Given the description of an element on the screen output the (x, y) to click on. 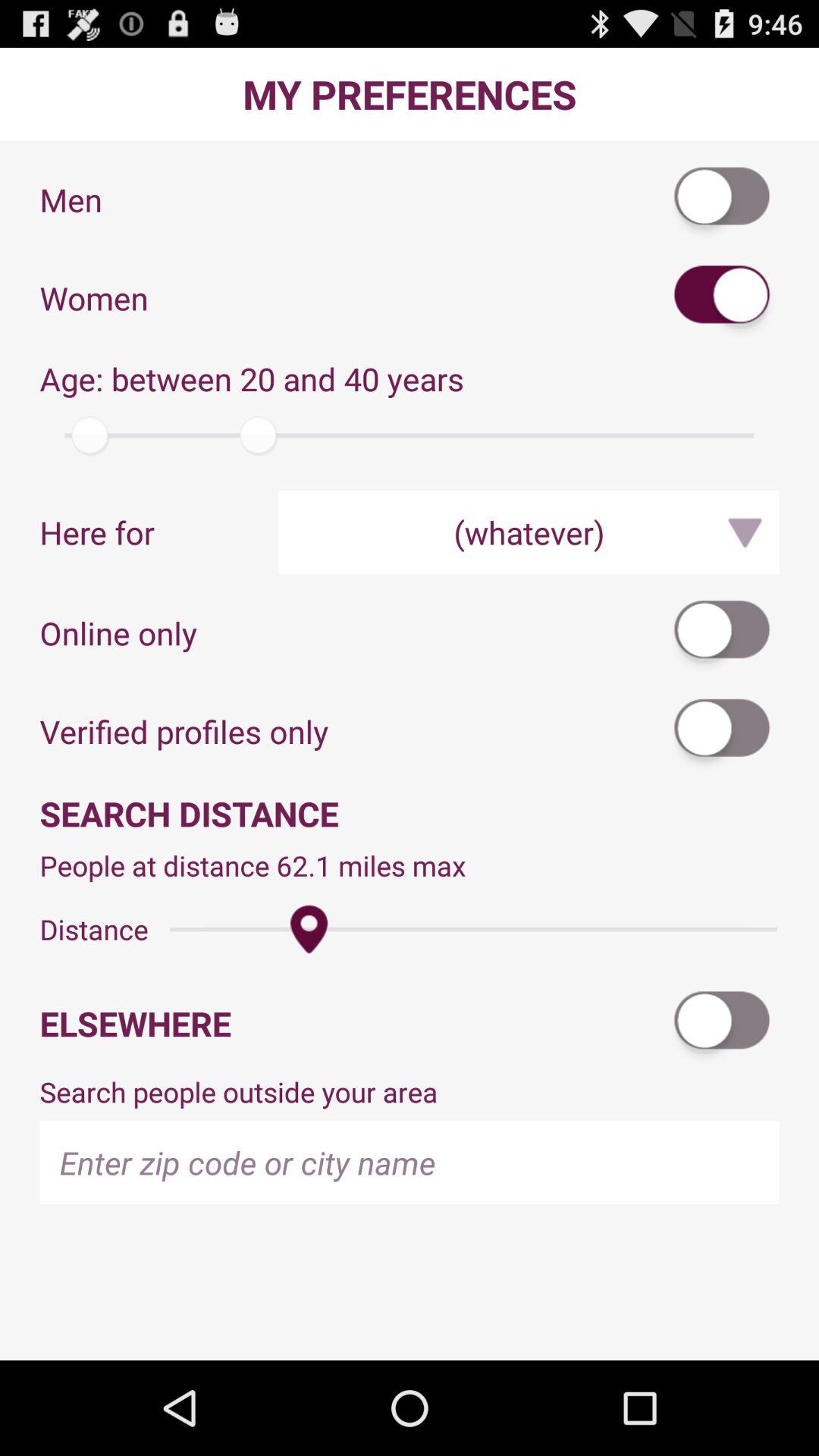
verified profiles only toggle (722, 731)
